Given the description of an element on the screen output the (x, y) to click on. 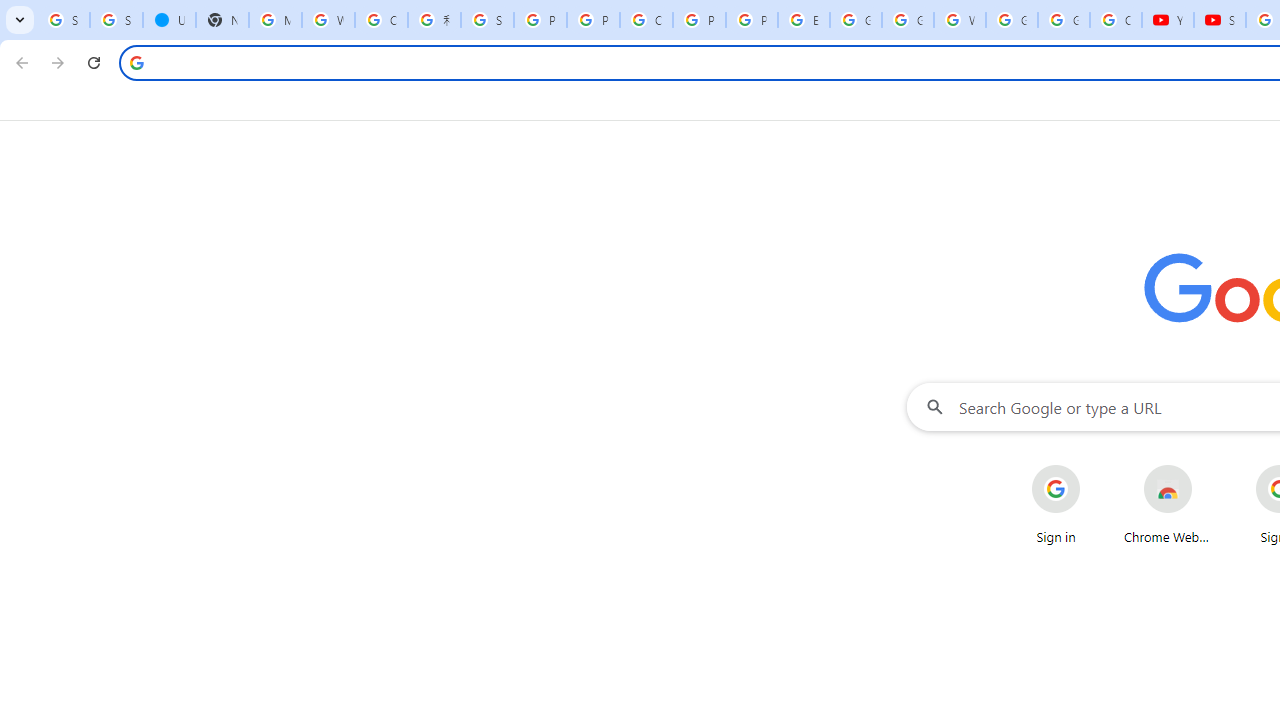
YouTube (1167, 20)
Sign in - Google Accounts (63, 20)
Welcome to My Activity (959, 20)
Create your Google Account (646, 20)
